Given the description of an element on the screen output the (x, y) to click on. 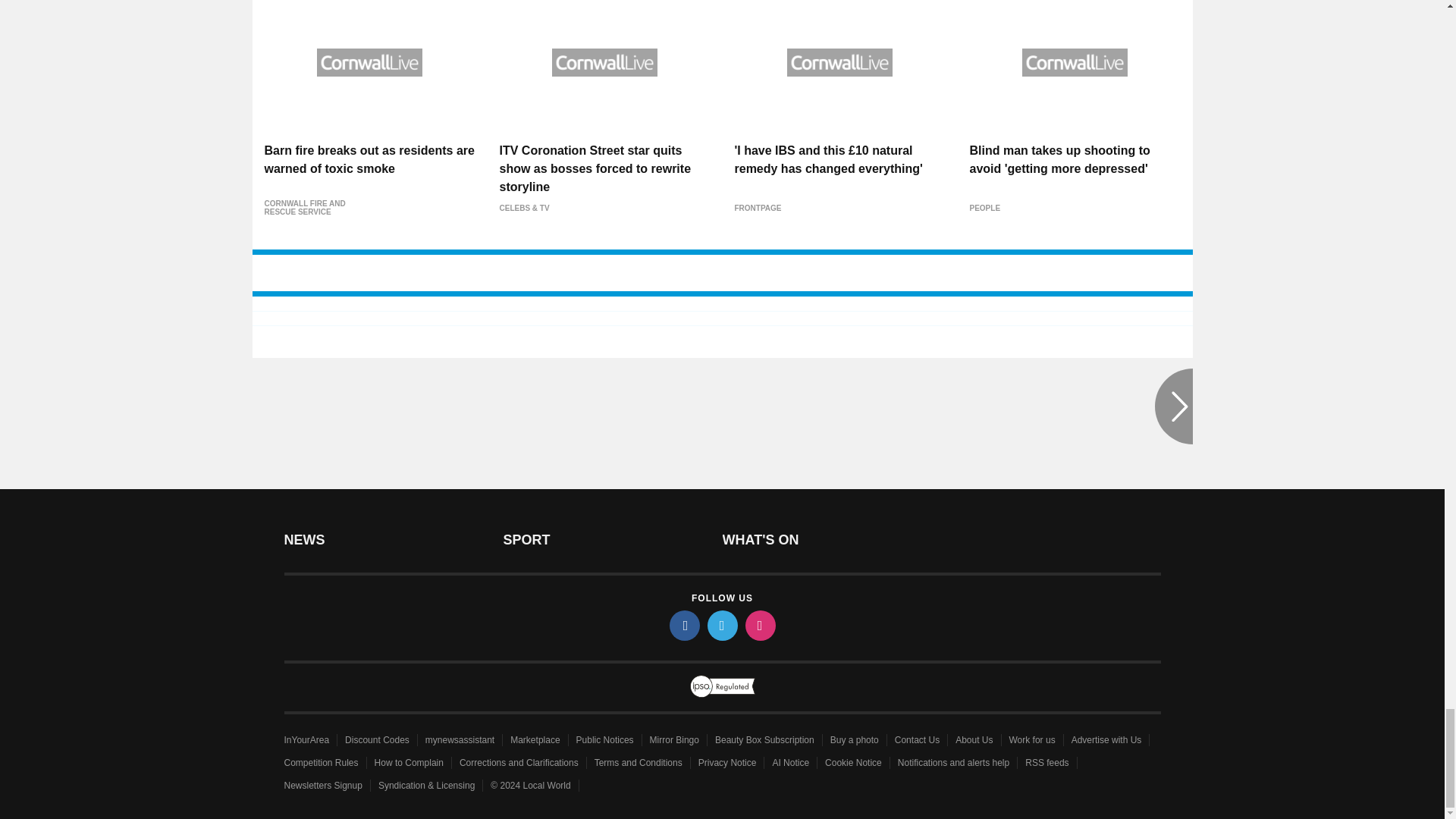
twitter (721, 625)
facebook (683, 625)
instagram (759, 625)
